Given the description of an element on the screen output the (x, y) to click on. 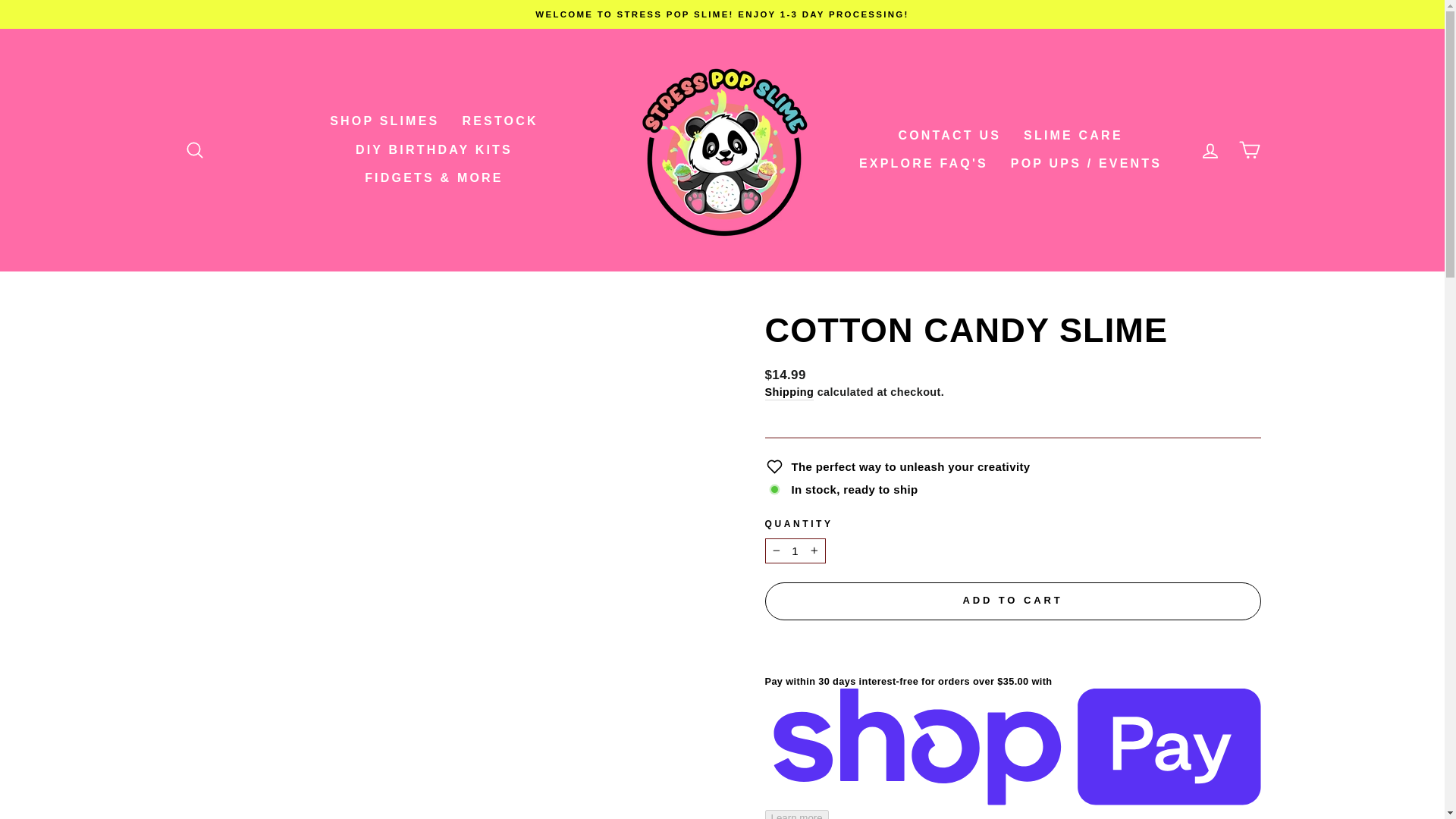
SEARCH (194, 149)
LOG IN (1210, 149)
SHOP SLIMES (383, 121)
EXPLORE FAQ'S (922, 163)
SLIME CARE (1072, 135)
RESTOCK (498, 121)
CART (1249, 149)
1 (794, 527)
DIY BIRTHDAY KITS (433, 149)
CONTACT US (948, 135)
